Given the description of an element on the screen output the (x, y) to click on. 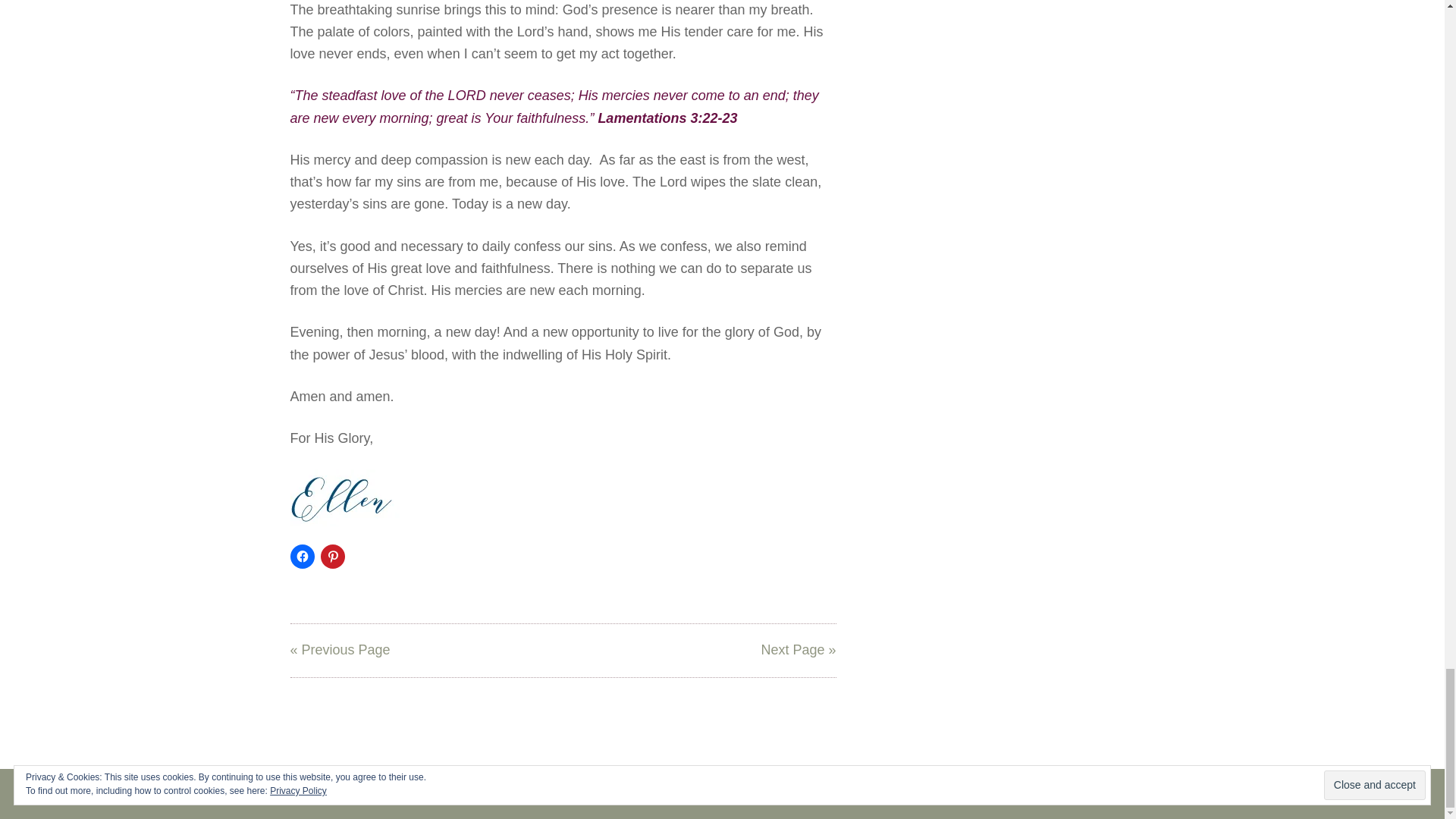
Click to share on Facebook (301, 556)
MRM (884, 793)
Click to share on Pinterest (331, 556)
